Given the description of an element on the screen output the (x, y) to click on. 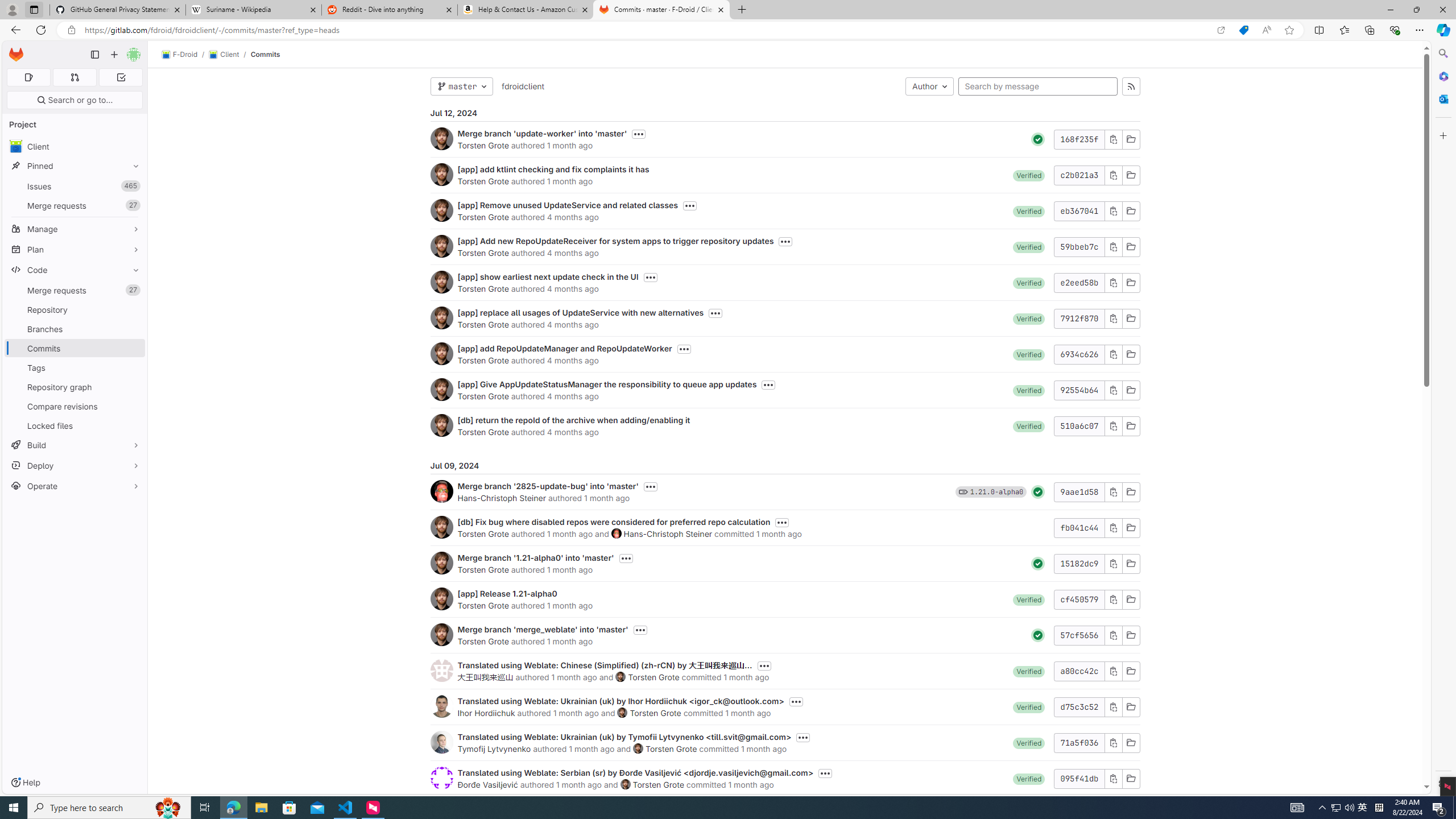
Torsten Grote (657, 784)
Jul 12, 2024 (784, 113)
Operate (74, 485)
Pin Compare revisions (132, 406)
Jul 09, 2024 (784, 465)
Merge requests 0 (74, 76)
Deploy (74, 465)
[app] add RepoUpdateManager and RepoUpdateWorker (564, 347)
GitHub General Privacy Statement - GitHub Docs (117, 9)
Pin Commits (132, 348)
